Given the description of an element on the screen output the (x, y) to click on. 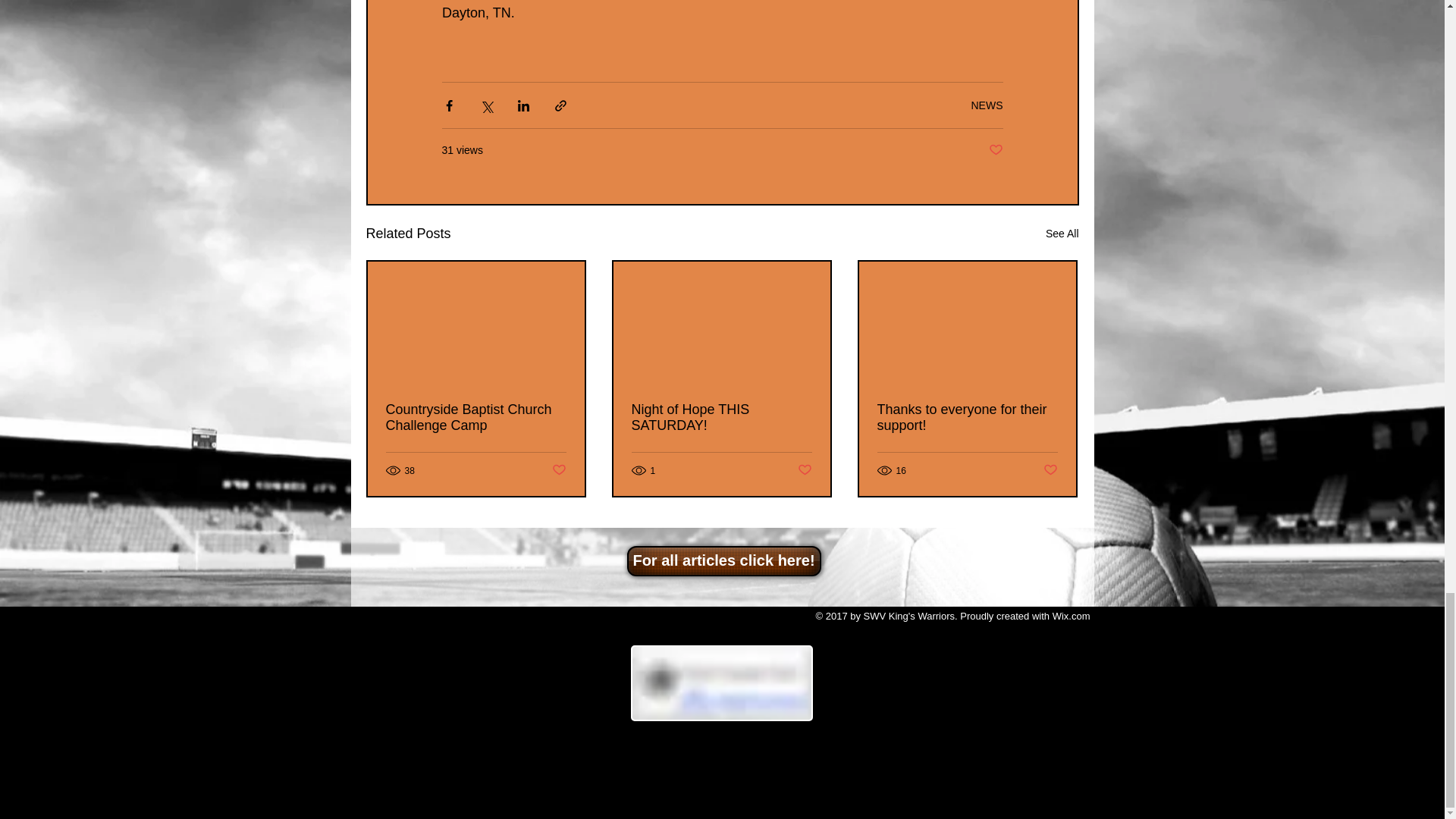
Post not marked as liked (558, 470)
Thanks to everyone for their support! (966, 418)
Wix.com (1071, 615)
Post not marked as liked (995, 150)
For all articles click here! (723, 561)
Countryside Baptist Church Challenge Camp (475, 418)
Night of Hope THIS SATURDAY! (720, 418)
Post not marked as liked (1050, 470)
Post not marked as liked (804, 470)
See All (1061, 233)
NEWS (987, 105)
